Given the description of an element on the screen output the (x, y) to click on. 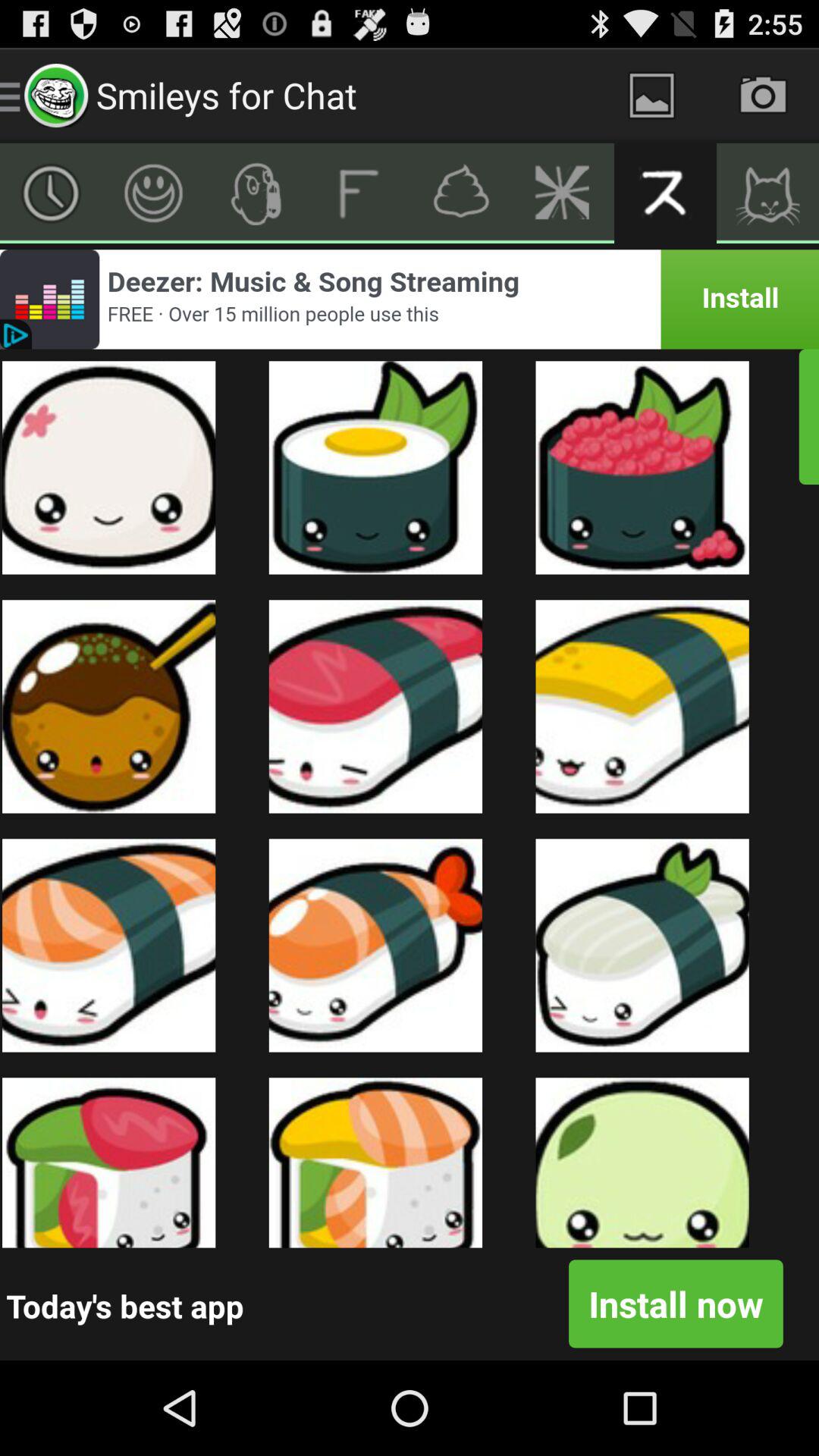
icon button (255, 193)
